Given the description of an element on the screen output the (x, y) to click on. 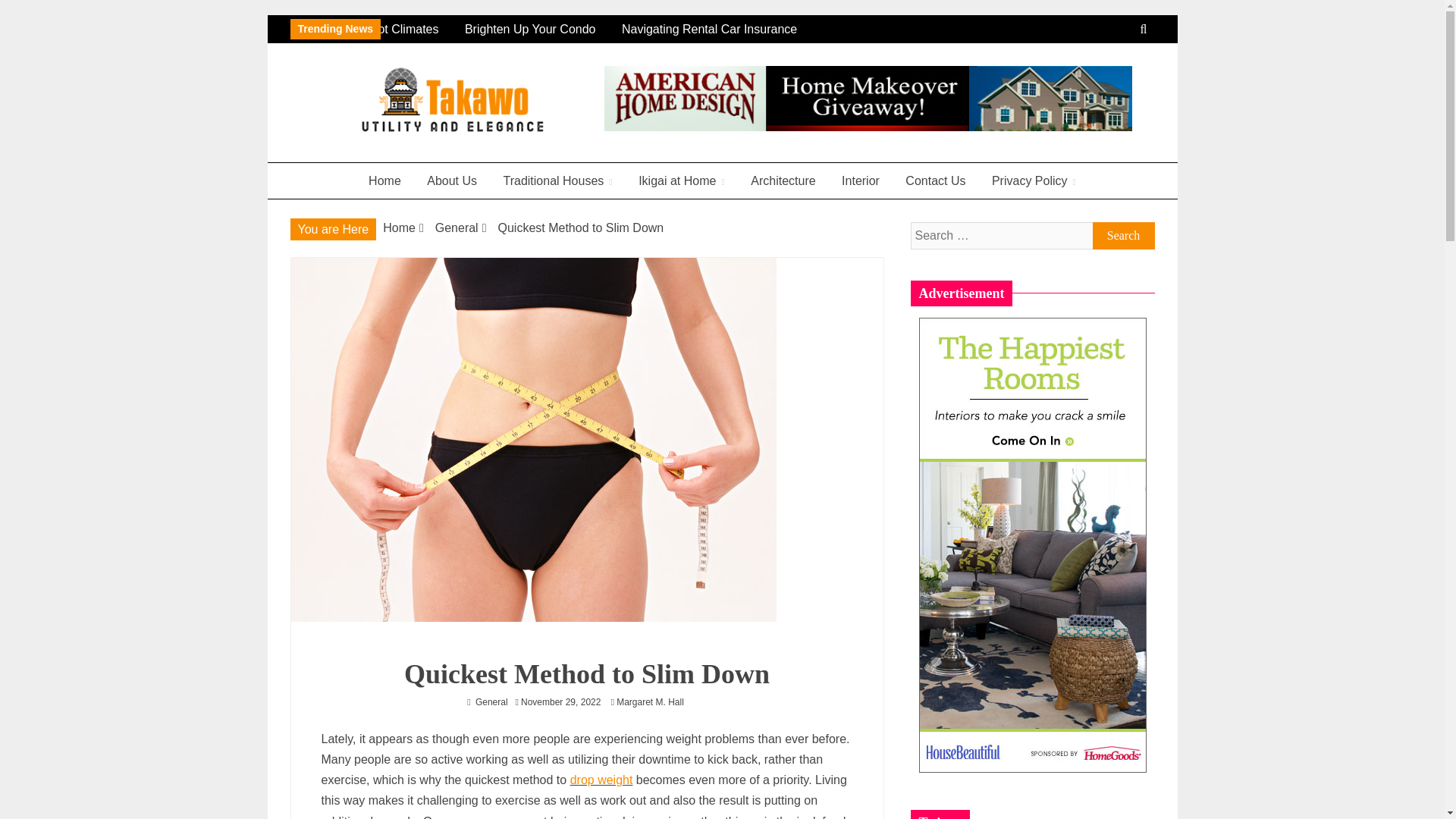
Quickest Method to Slim Down (580, 227)
Search (1123, 235)
Navigating Rental Car Insurance (724, 29)
Brighten Up Your Condo (547, 29)
About Us (450, 180)
Roofing Options for Hot Climates (368, 29)
Margaret M. Hall (653, 701)
November 29, 2022 (560, 701)
Search (1123, 235)
Roofing Options for Hot Climates (378, 29)
